Given the description of an element on the screen output the (x, y) to click on. 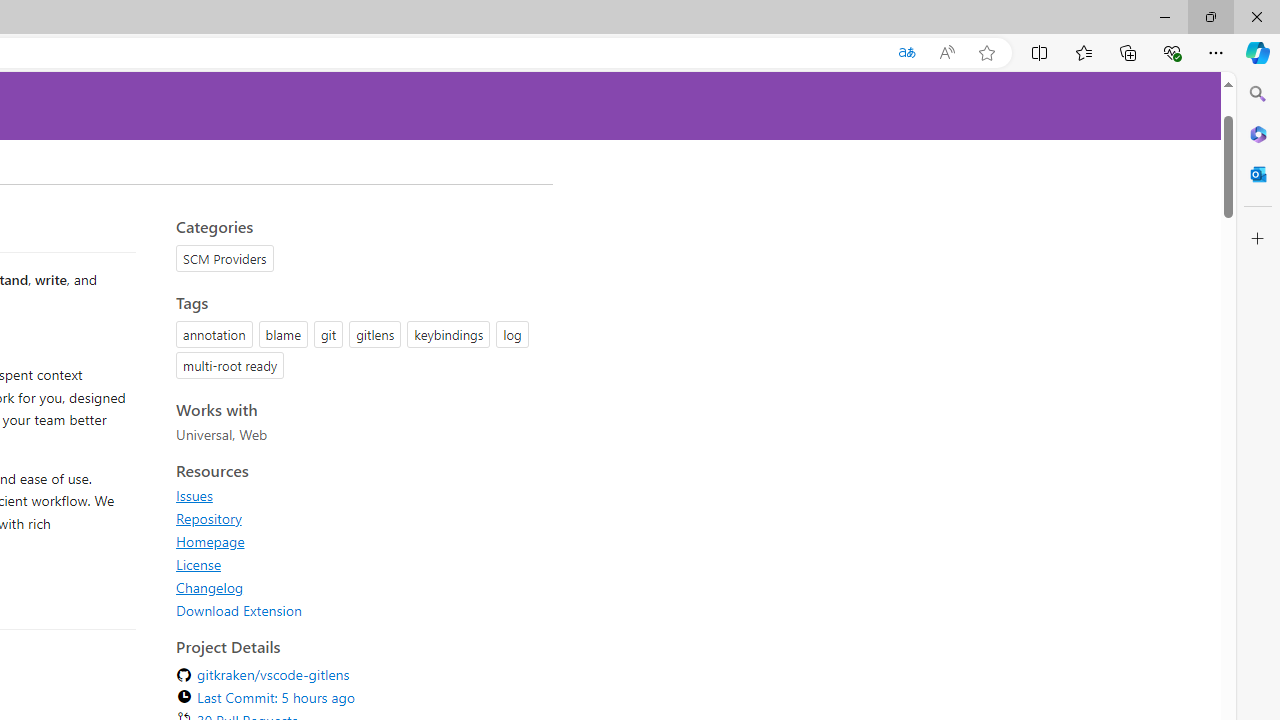
License (358, 564)
Changelog (210, 587)
Download Extension (358, 610)
Repository (358, 518)
